Given the description of an element on the screen output the (x, y) to click on. 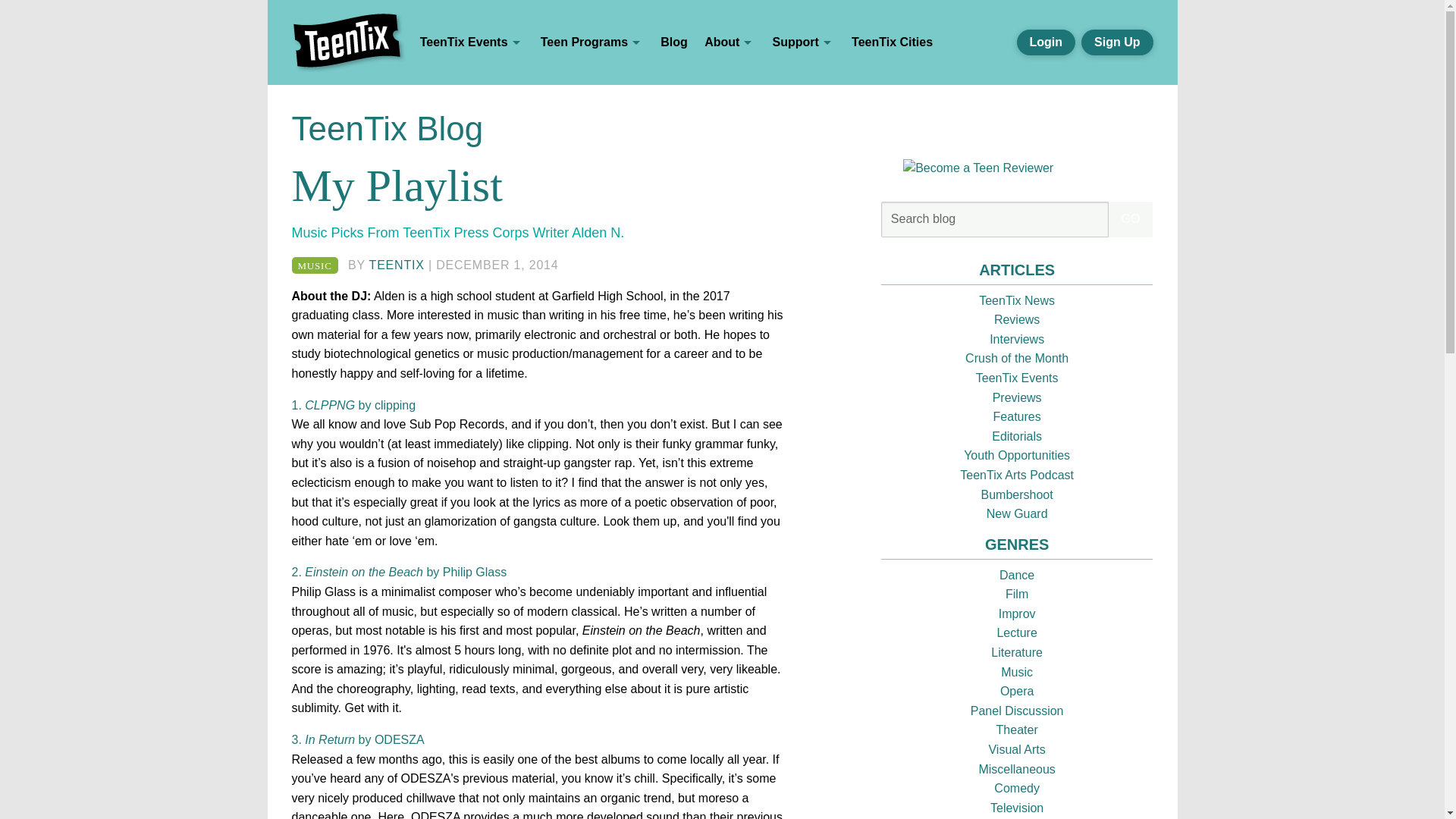
2. Einstein on the Beach by Philip Glass (398, 571)
Sign Up (1117, 42)
TEENTIX (397, 264)
TeenTix Cities (891, 41)
3. In Return by ODESZA (357, 739)
Teen Programs (592, 41)
About (728, 41)
MUSIC (314, 265)
Support (802, 41)
TeenTix Blog (387, 128)
